Given the description of an element on the screen output the (x, y) to click on. 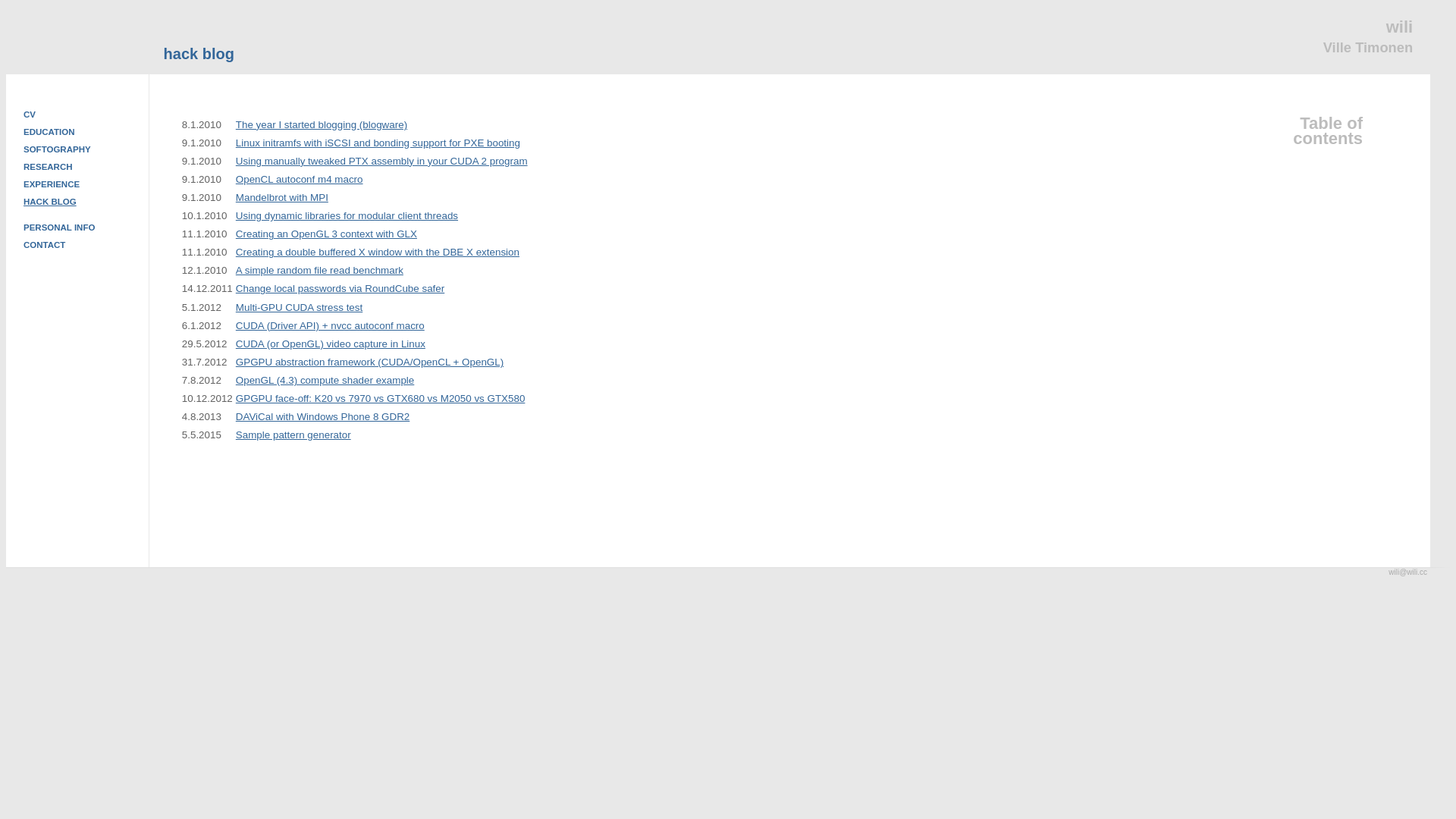
EXPERIENCE Element type: text (51, 183)
CUDA (or OpenGL) video capture in Linux Element type: text (330, 343)
CV Element type: text (29, 113)
EDUCATION Element type: text (49, 131)
The year I started blogging (blogware) Element type: text (321, 124)
OpenGL (4.3) compute shader example Element type: text (324, 379)
GPGPU abstraction framework (CUDA/OpenCL + OpenGL) Element type: text (369, 361)
Mandelbrot with MPI Element type: text (281, 197)
Using manually tweaked PTX assembly in your CUDA 2 program Element type: text (381, 160)
RESEARCH Element type: text (47, 166)
PERSONAL INFO Element type: text (58, 227)
Change local passwords via RoundCube safer Element type: text (339, 288)
GPGPU face-off: K20 vs 7970 vs GTX680 vs M2050 vs GTX580 Element type: text (380, 398)
HACK BLOG Element type: text (49, 201)
SOFTOGRAPHY Element type: text (57, 148)
Using dynamic libraries for modular client threads Element type: text (346, 215)
Multi-GPU CUDA stress test Element type: text (298, 307)
CUDA (Driver API) + nvcc autoconf macro Element type: text (329, 325)
CONTACT Element type: text (44, 244)
Creating a double buffered X window with the DBE X extension Element type: text (377, 251)
OpenCL autoconf m4 macro Element type: text (299, 179)
A simple random file read benchmark Element type: text (319, 270)
Creating an OpenGL 3 context with GLX Element type: text (326, 233)
DAViCal with Windows Phone 8 GDR2 Element type: text (322, 416)
Sample pattern generator Element type: text (293, 434)
